Given the description of an element on the screen output the (x, y) to click on. 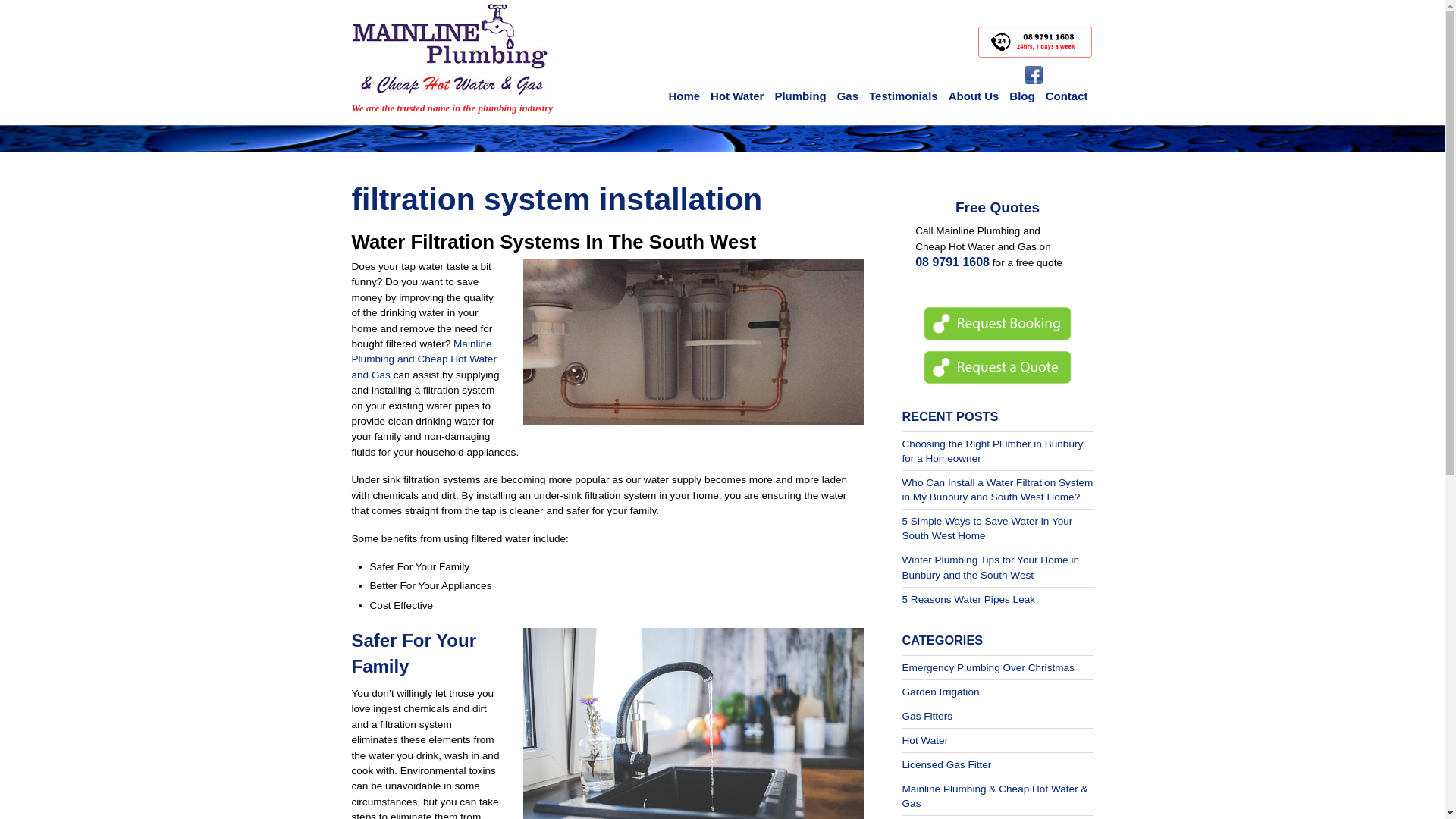
Hot Water Element type: text (925, 740)
Gas Fitters Element type: text (927, 715)
5 Reasons Water Pipes Leak Element type: text (968, 599)
Mainline Plumbing & Cheap Hot Water & Gas Element type: text (995, 796)
Mainline Plumbing Element type: hover (449, 75)
Plumbing Element type: text (799, 95)
About Us Element type: text (973, 95)
Below bench filtration system Element type: hover (693, 342)
Hot Water Element type: text (736, 95)
Licensed Gas Fitter Element type: text (946, 764)
Contact Element type: text (1066, 95)
5 Simple Ways to Save Water in Your South West Home Element type: text (987, 528)
Home Element type: text (683, 95)
Gas Element type: text (847, 95)
Blog Element type: text (1021, 95)
Testimonials Element type: text (903, 95)
Garden Irrigation Element type: text (940, 691)
Choosing the Right Plumber in Bunbury for a Homeowner Element type: text (992, 451)
Facebook Element type: hover (1032, 75)
Mainline Plumbing Element type: hover (449, 49)
Water Filtration Systems In The South West Element type: text (553, 241)
Mainline Plumbing and Cheap Hot Water and Gas Element type: text (423, 359)
Emergency Plumbing Over Christmas Element type: text (988, 667)
08 9791 1608 Element type: text (952, 261)
